Given the description of an element on the screen output the (x, y) to click on. 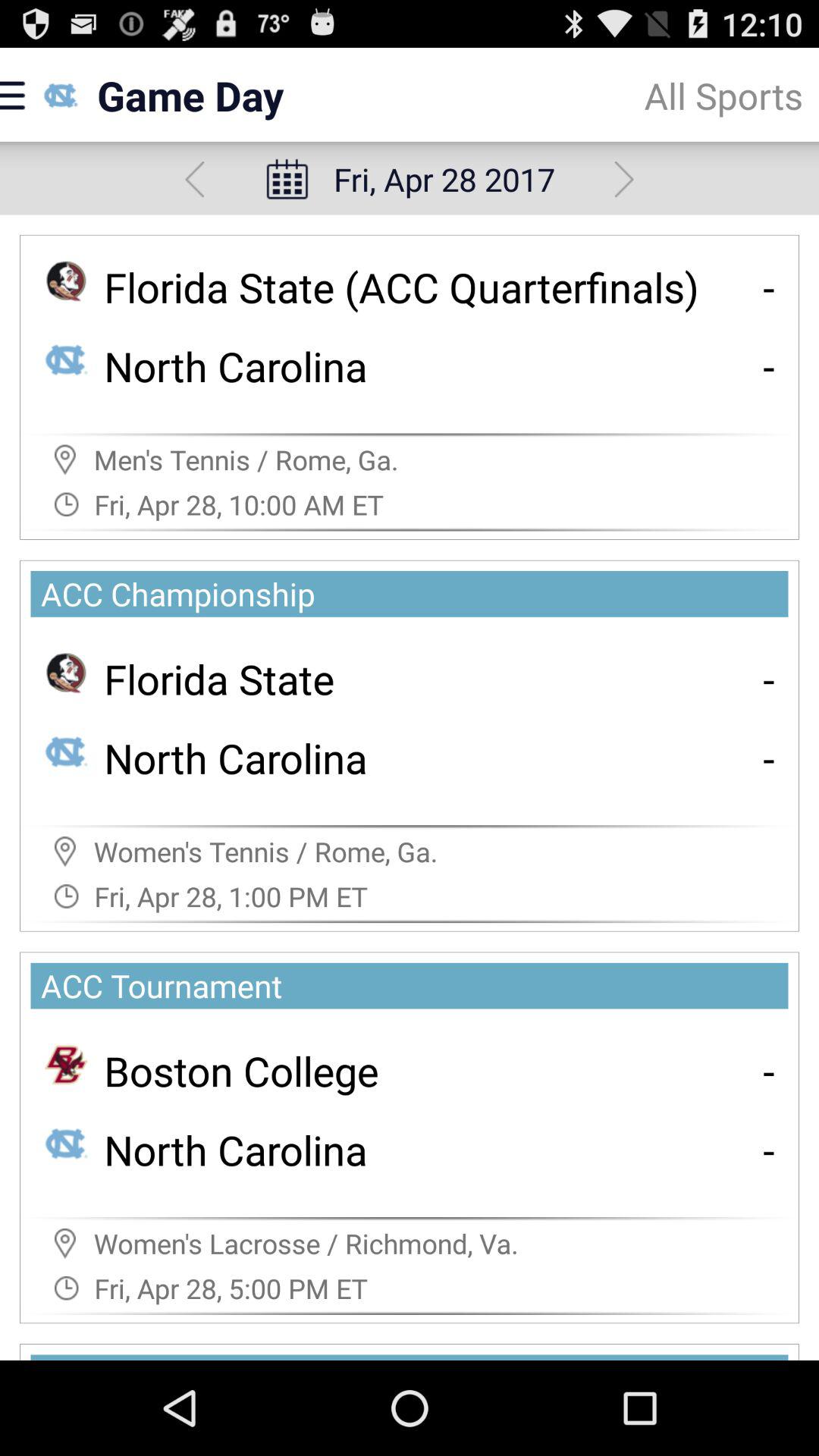
press app below the game day item (194, 178)
